Given the description of an element on the screen output the (x, y) to click on. 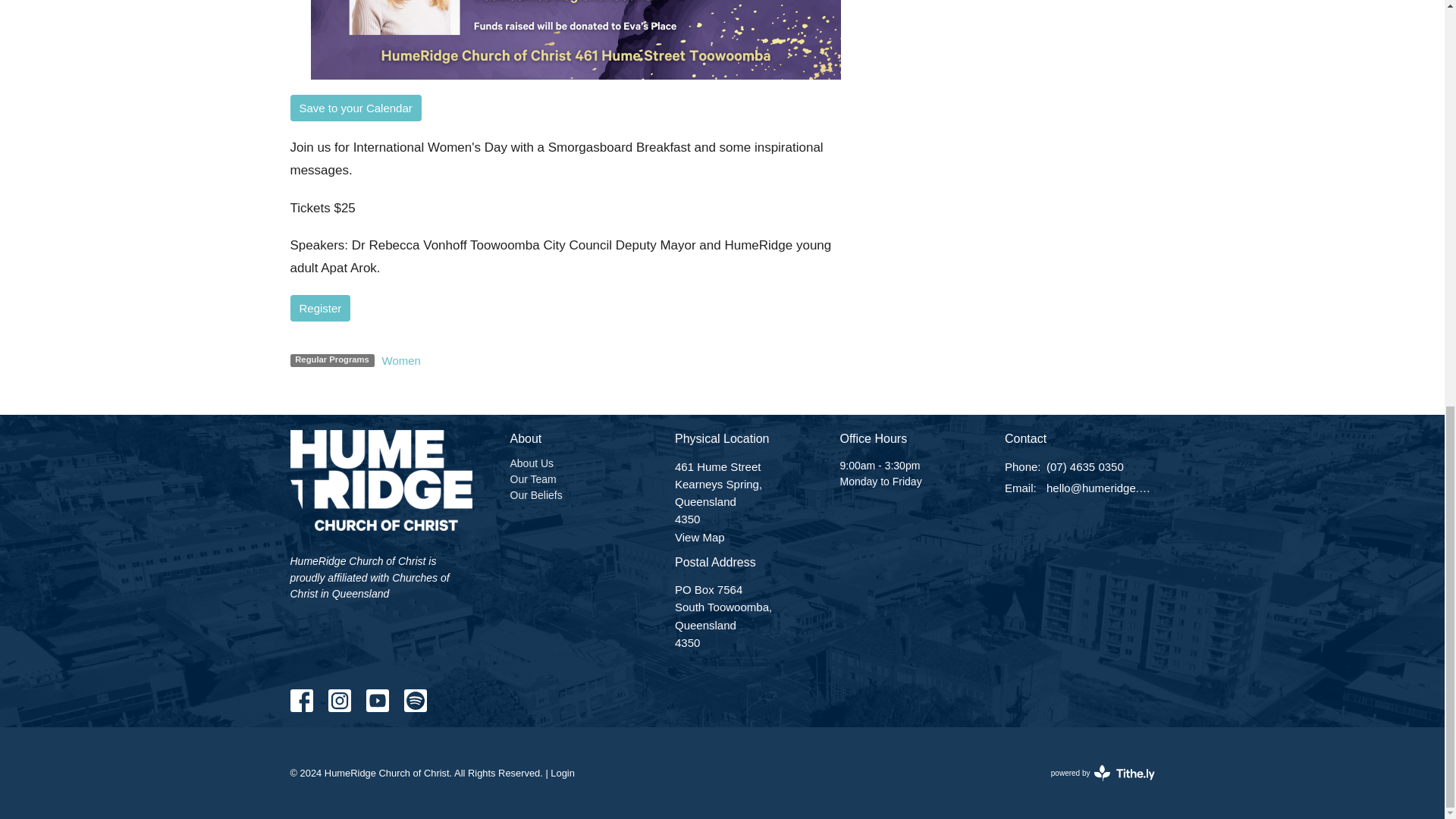
About Us (1102, 772)
Our Beliefs (531, 463)
Login (535, 494)
Women (562, 772)
View Map (400, 360)
Register (700, 536)
Save to your Calendar (319, 307)
Our Team (354, 108)
translation missing: en.ui.email (532, 479)
